Given the description of an element on the screen output the (x, y) to click on. 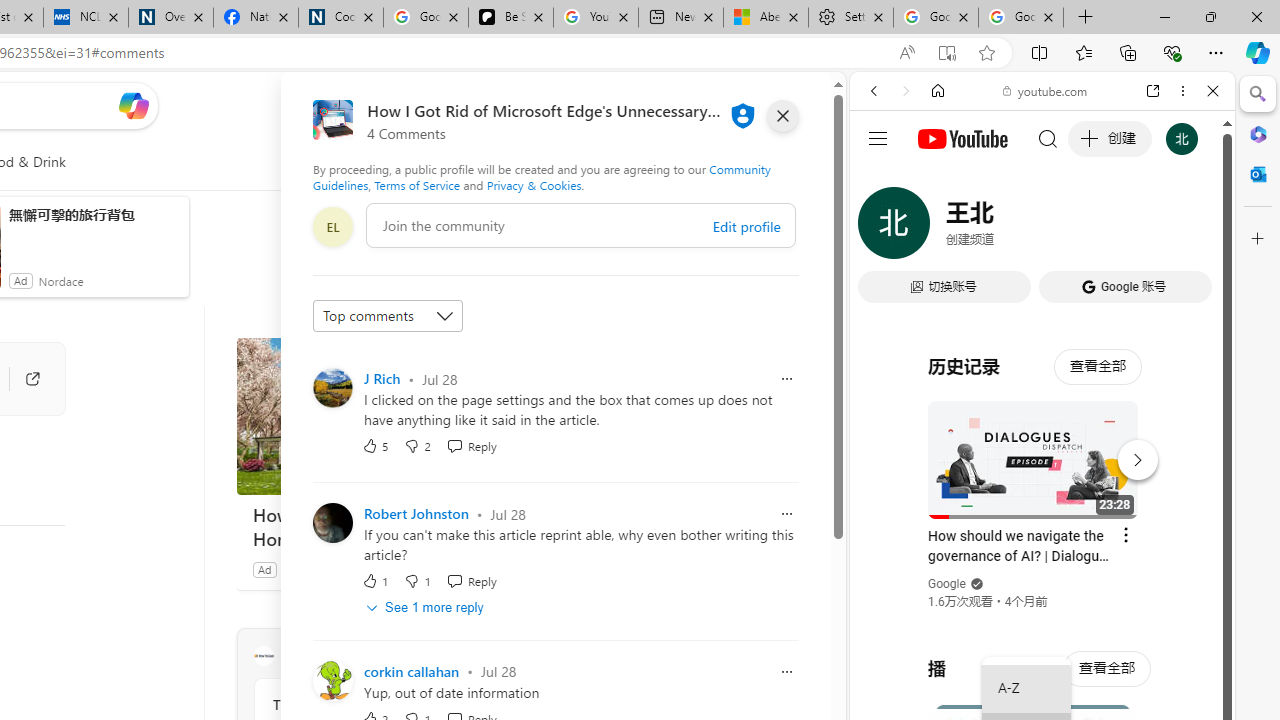
Music (1042, 543)
Web scope (882, 180)
Reply Reply Comment (471, 580)
NCL Adult Asthma Inhaler Choice Guideline (85, 17)
Class: b_serphb (1190, 229)
